Given the description of an element on the screen output the (x, y) to click on. 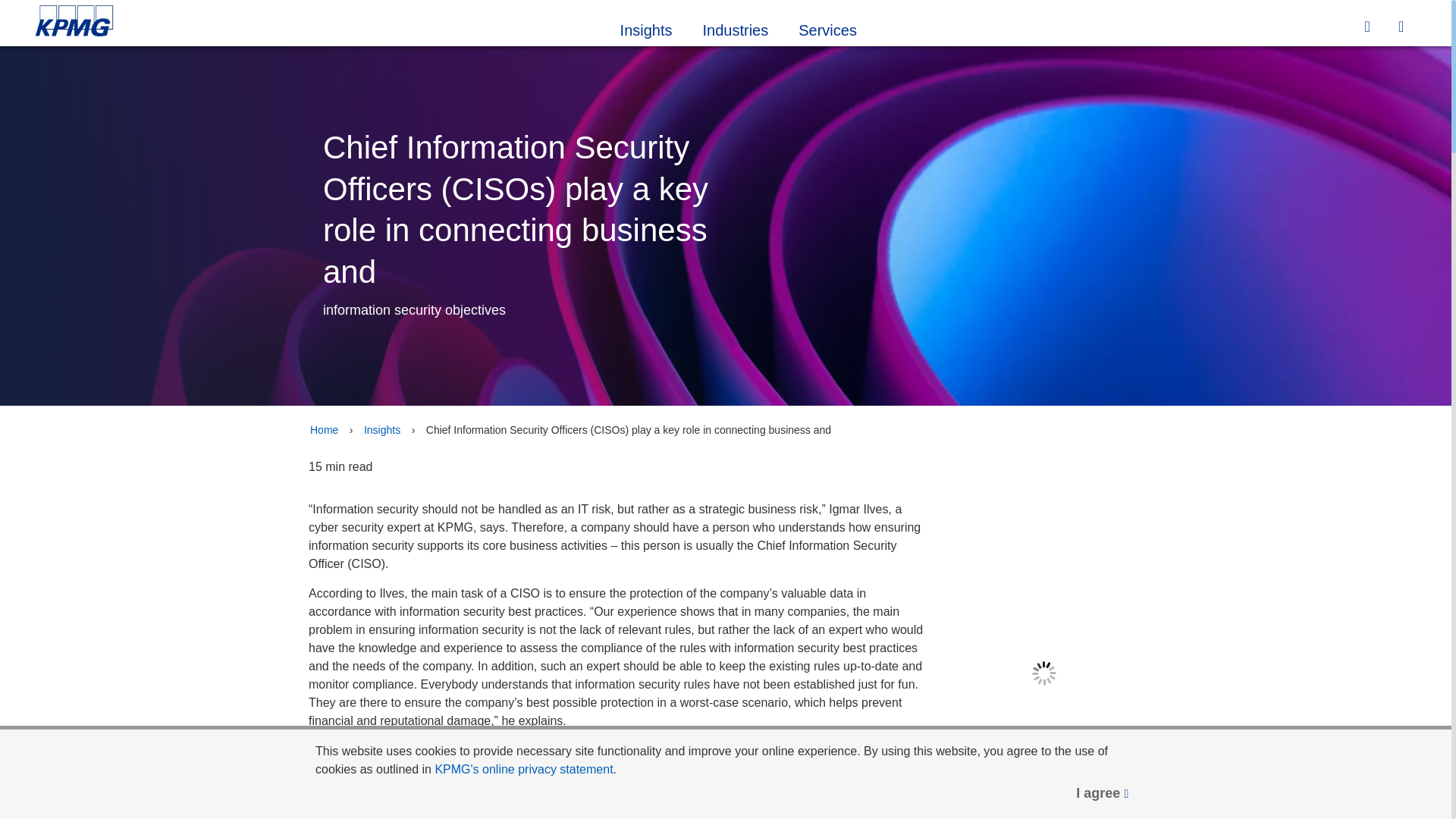
I agree (1103, 793)
Services (827, 28)
Insights (646, 28)
Industries (735, 28)
KPMG's online privacy statement (522, 768)
